Given the description of an element on the screen output the (x, y) to click on. 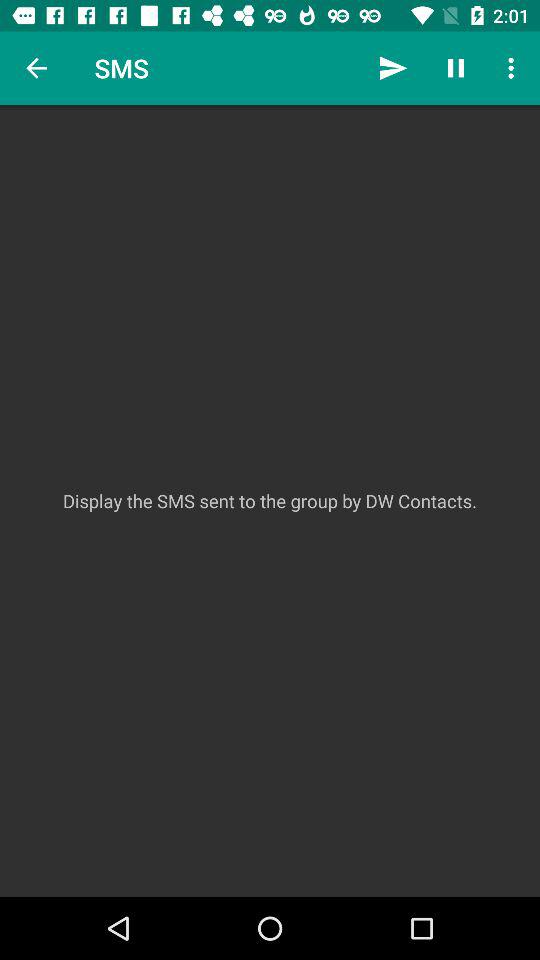
select item next to the sms (36, 68)
